Given the description of an element on the screen output the (x, y) to click on. 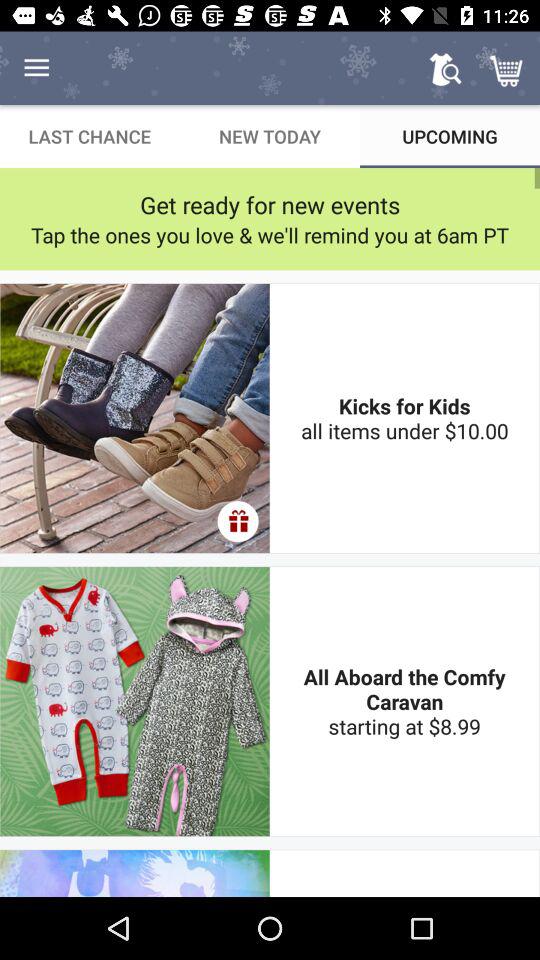
press all aboard the (404, 701)
